Given the description of an element on the screen output the (x, y) to click on. 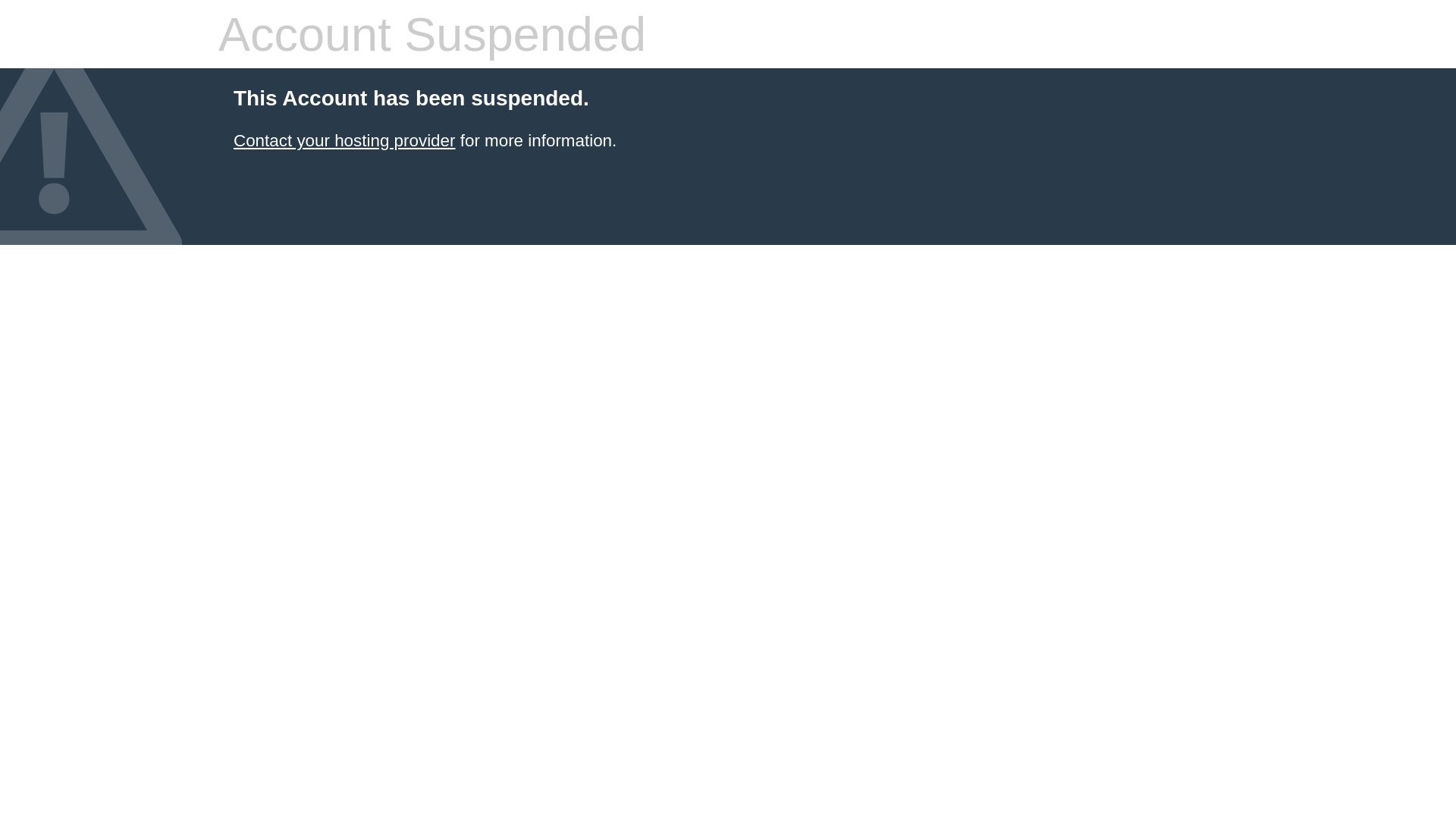
Contact your hosting provider Element type: text (344, 140)
